Given the description of an element on the screen output the (x, y) to click on. 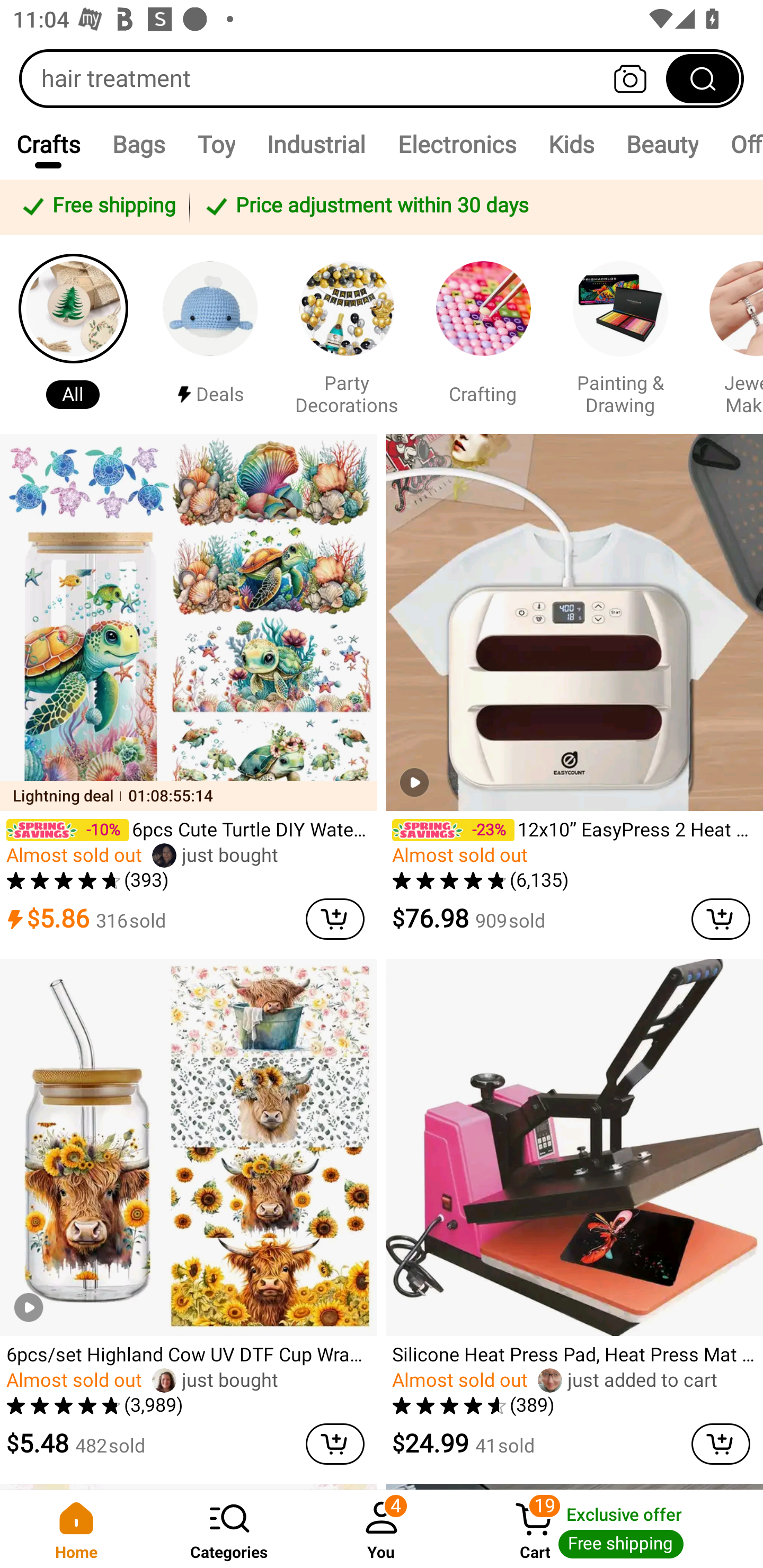
hair treatment (381, 78)
Crafts (48, 144)
Bags (138, 144)
Toy (216, 144)
Industrial (316, 144)
Electronics (456, 144)
Kids (570, 144)
Beauty (661, 144)
Free shipping (97, 206)
Price adjustment within 30 days (472, 206)
All (72, 333)
￼￼Deals (209, 333)
Party Decorations (346, 333)
Crafting (482, 333)
Painting & Drawing (619, 333)
cart delete (334, 918)
cart delete (720, 918)
cart delete (334, 1443)
cart delete (720, 1443)
Home (76, 1528)
Categories (228, 1528)
You 4 You (381, 1528)
Cart 19 Cart Exclusive offer (610, 1528)
